Given the description of an element on the screen output the (x, y) to click on. 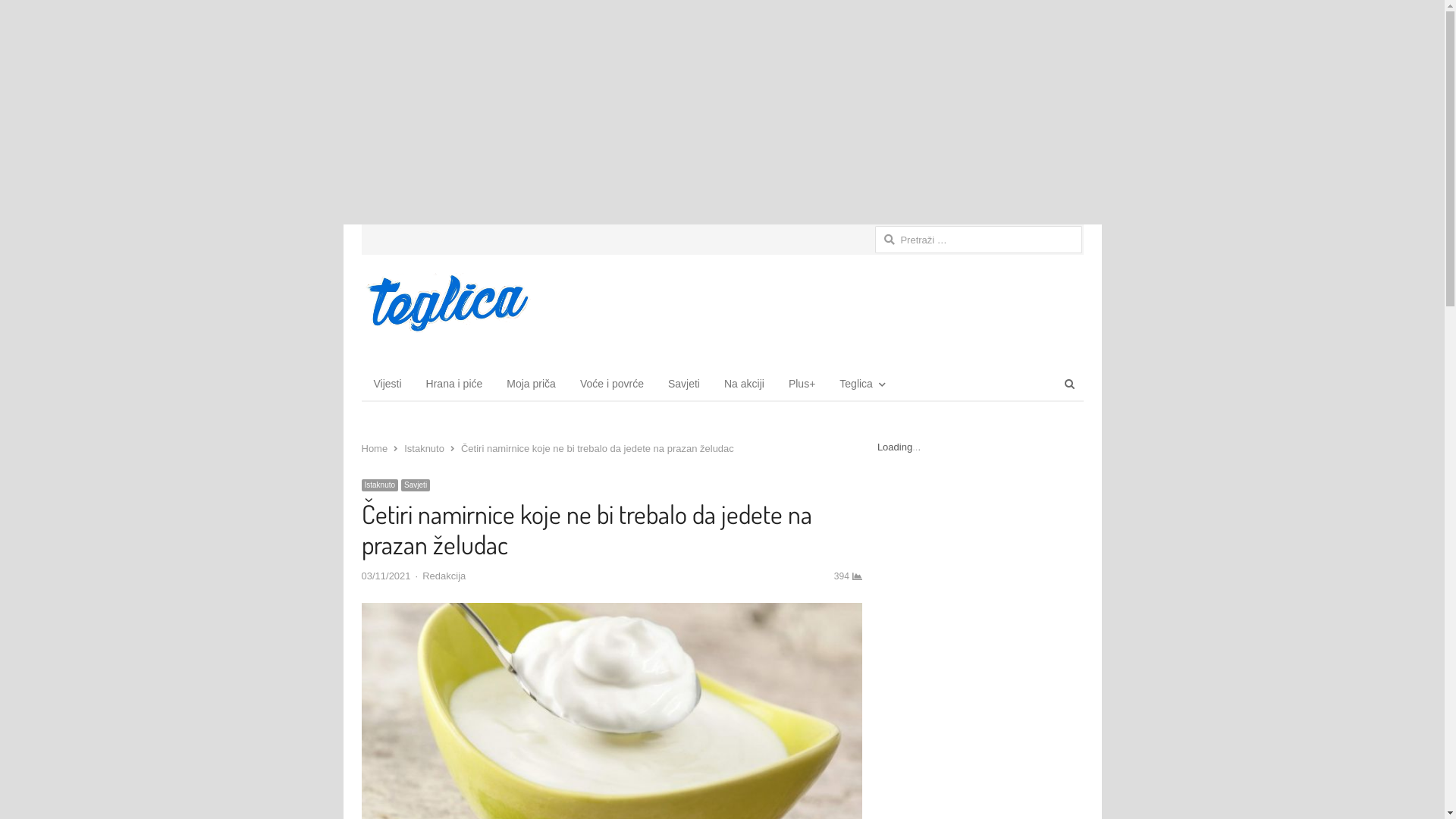
Vijesti Element type: text (386, 383)
Advertisement Element type: hover (821, 307)
Istaknuto Element type: text (379, 485)
Savjeti Element type: text (415, 485)
Teglica Element type: text (860, 383)
Open search panel Element type: text (1068, 383)
Istaknuto Element type: text (424, 448)
Teglica.ba Element type: hover (445, 305)
Pretraga Element type: text (31, 13)
Plus+ Element type: text (801, 383)
Home Element type: text (373, 448)
Advertisement Element type: hover (721, 112)
Na akciji Element type: text (744, 383)
Savjeti Element type: text (683, 383)
Redakcija Element type: text (443, 575)
